Given the description of an element on the screen output the (x, y) to click on. 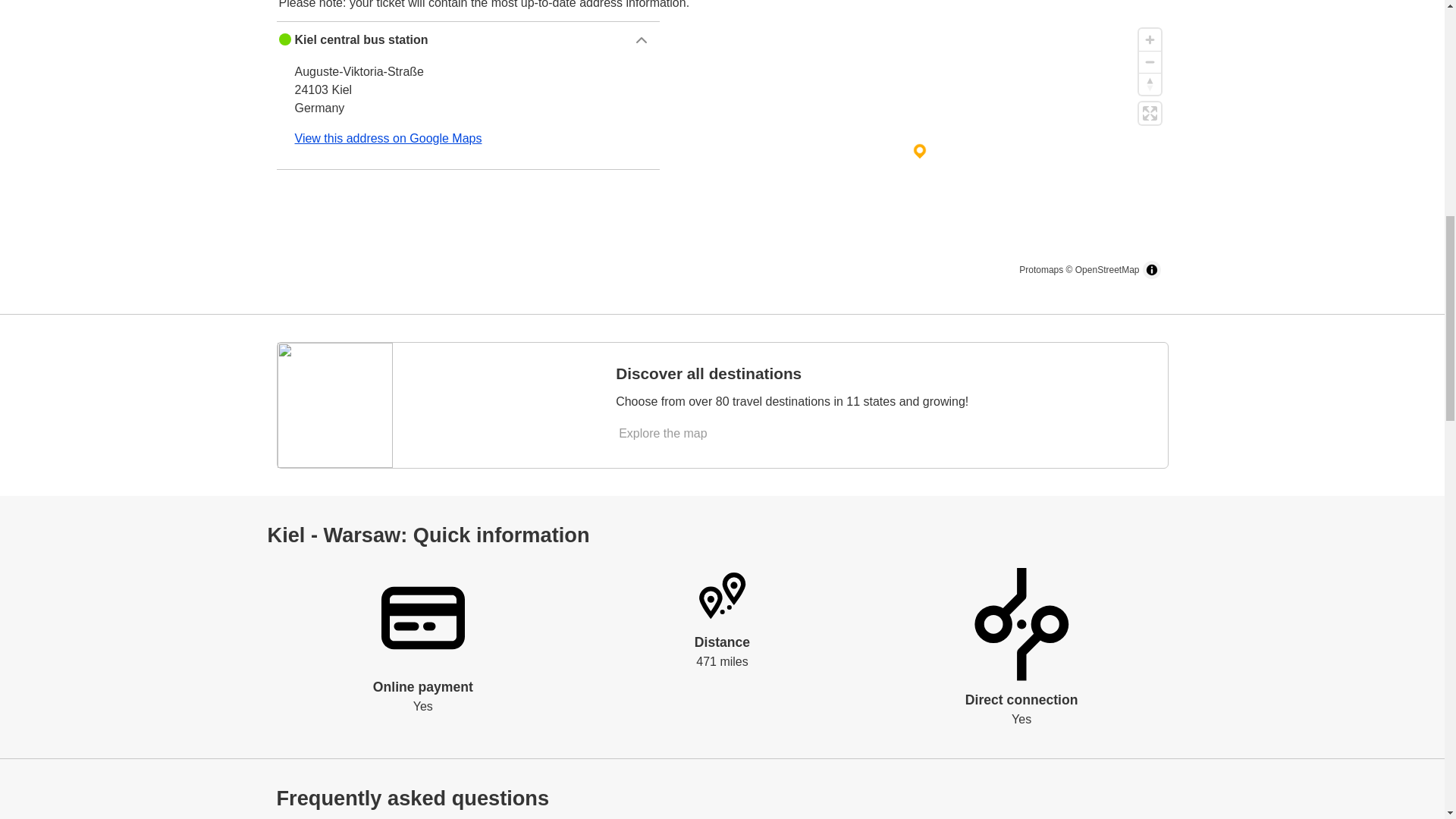
Toggle attribution (1150, 270)
Protomaps (1040, 269)
Reset bearing to north (1149, 83)
Zoom out (1149, 61)
Zoom in (1149, 39)
View this address on Google Maps (388, 137)
OpenStreetMap (1107, 269)
Enter fullscreen (1149, 113)
